Given the description of an element on the screen output the (x, y) to click on. 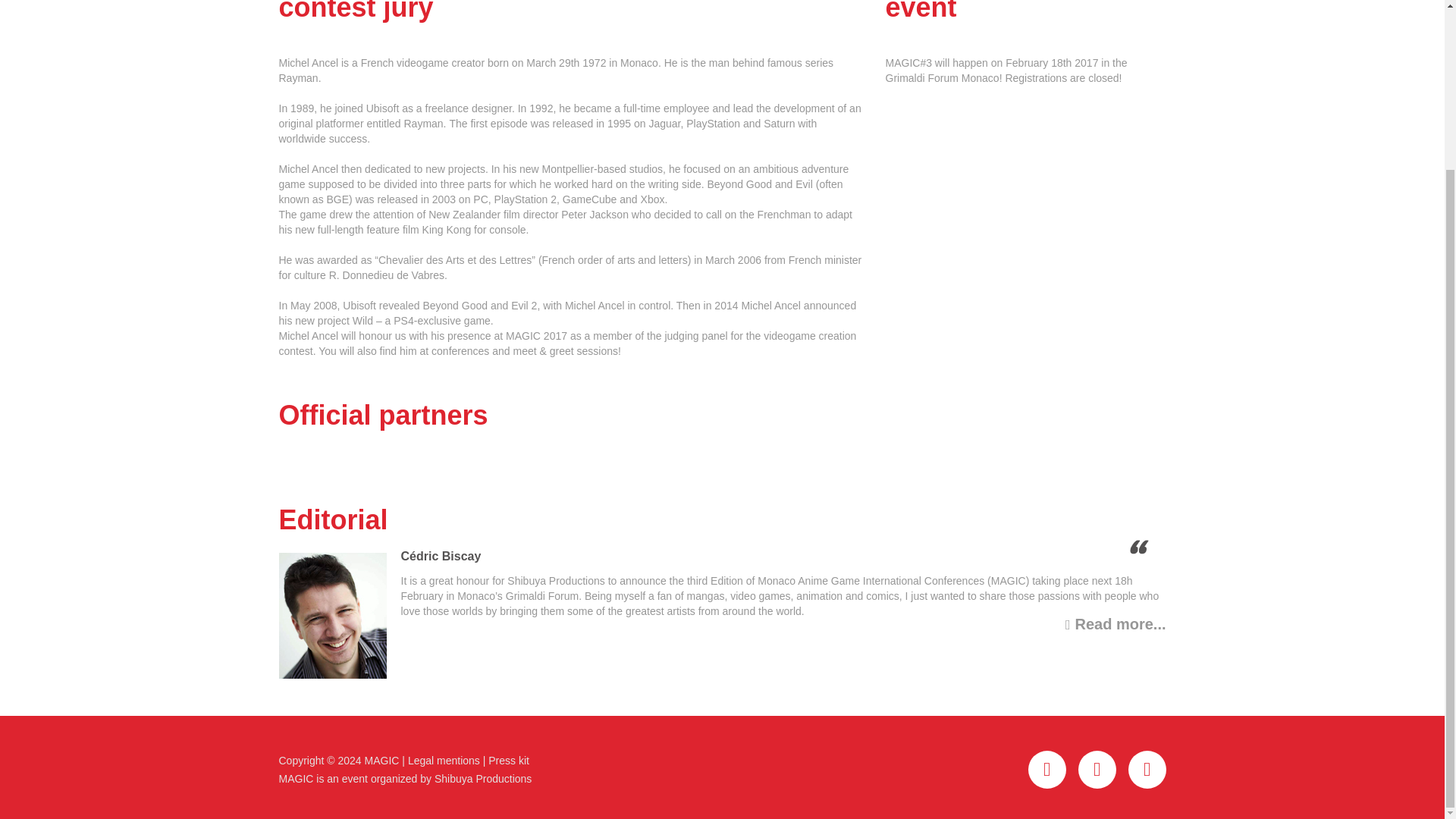
Legal mentions (443, 760)
MAGIC (381, 760)
Read more... (1115, 624)
Press kit (508, 760)
